Given the description of an element on the screen output the (x, y) to click on. 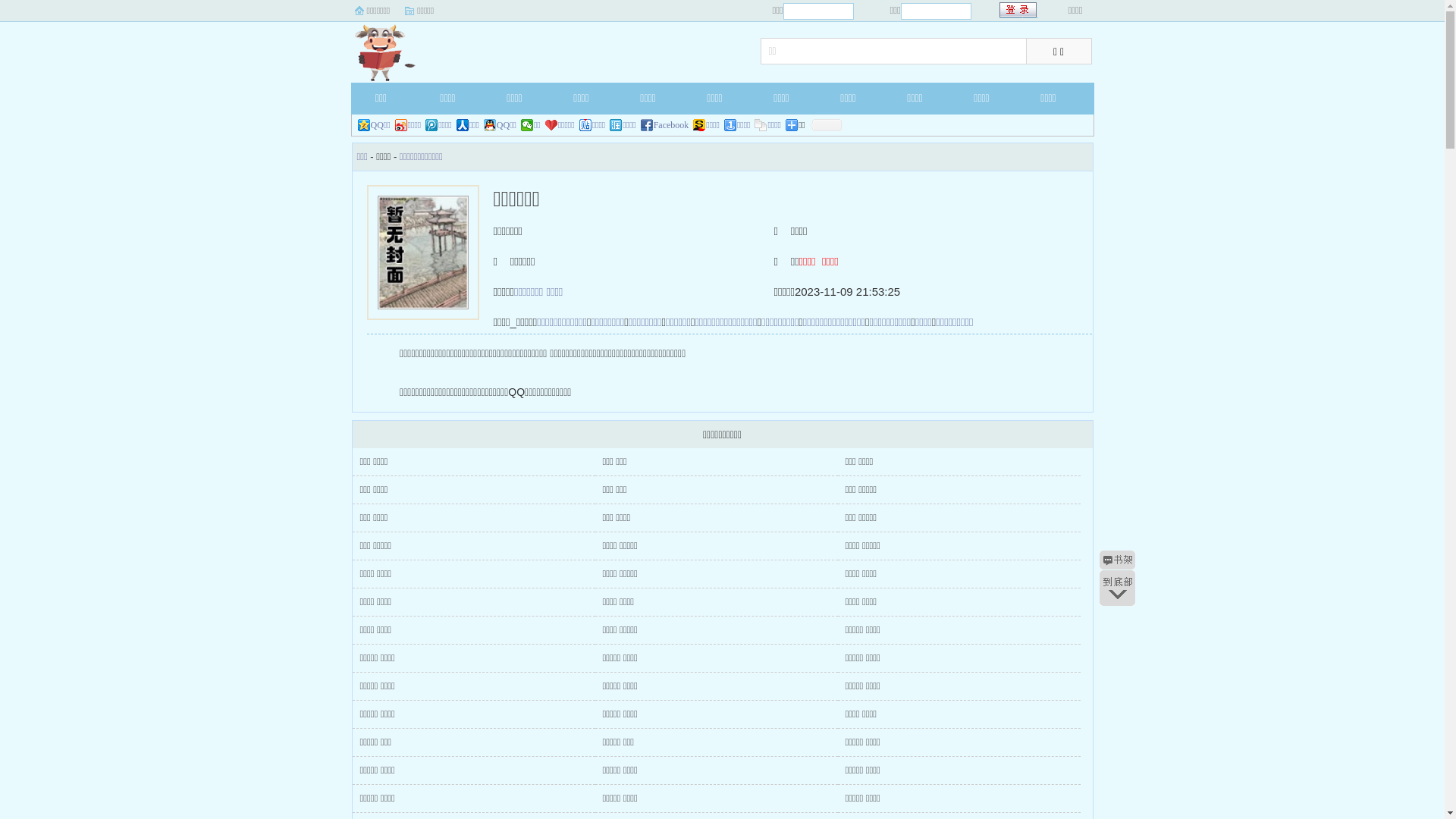
Facebook Element type: text (664, 125)
